Given the description of an element on the screen output the (x, y) to click on. 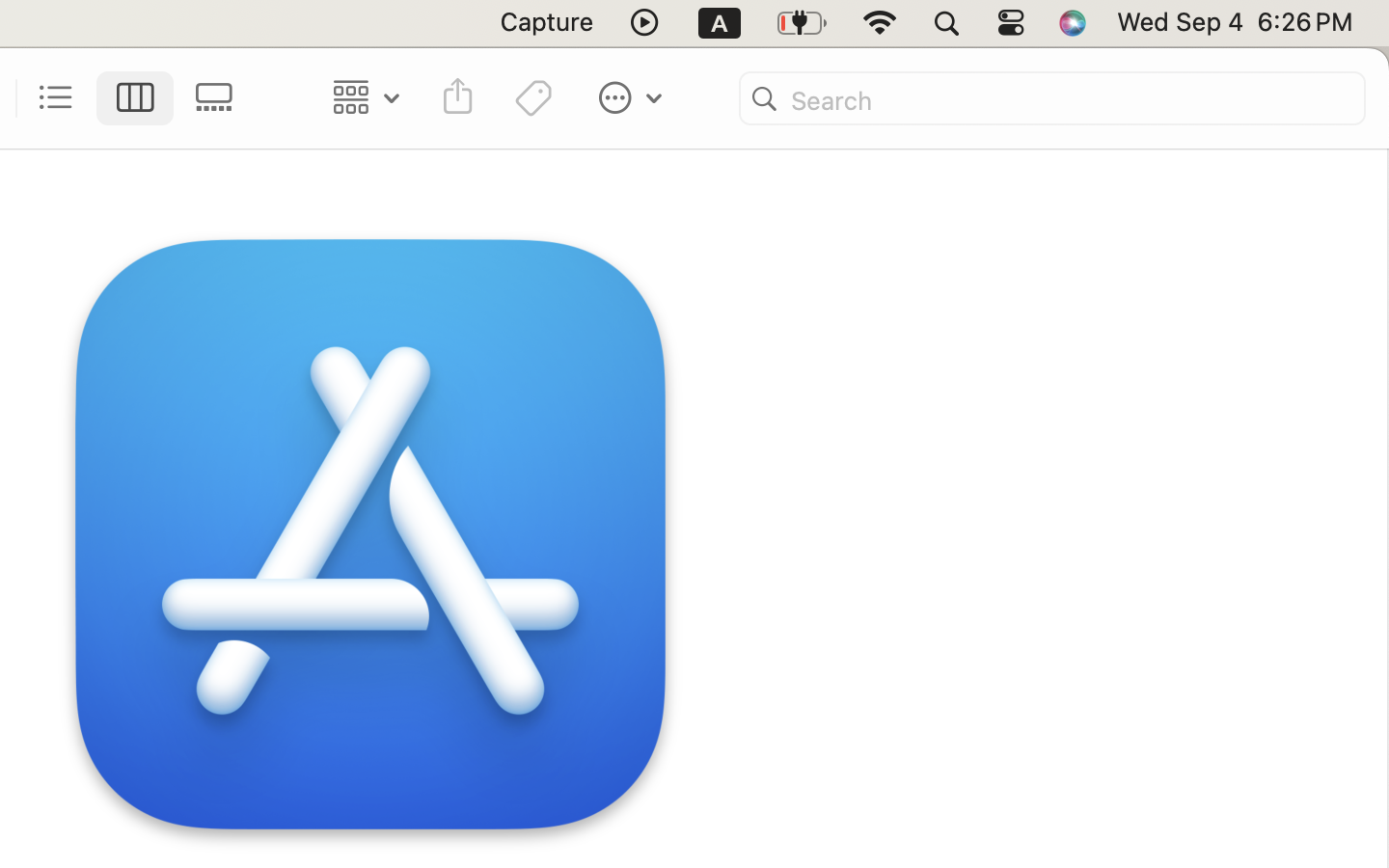
1 Element type: AXRadioButton (135, 97)
0 Element type: AXRadioButton (219, 97)
